Given the description of an element on the screen output the (x, y) to click on. 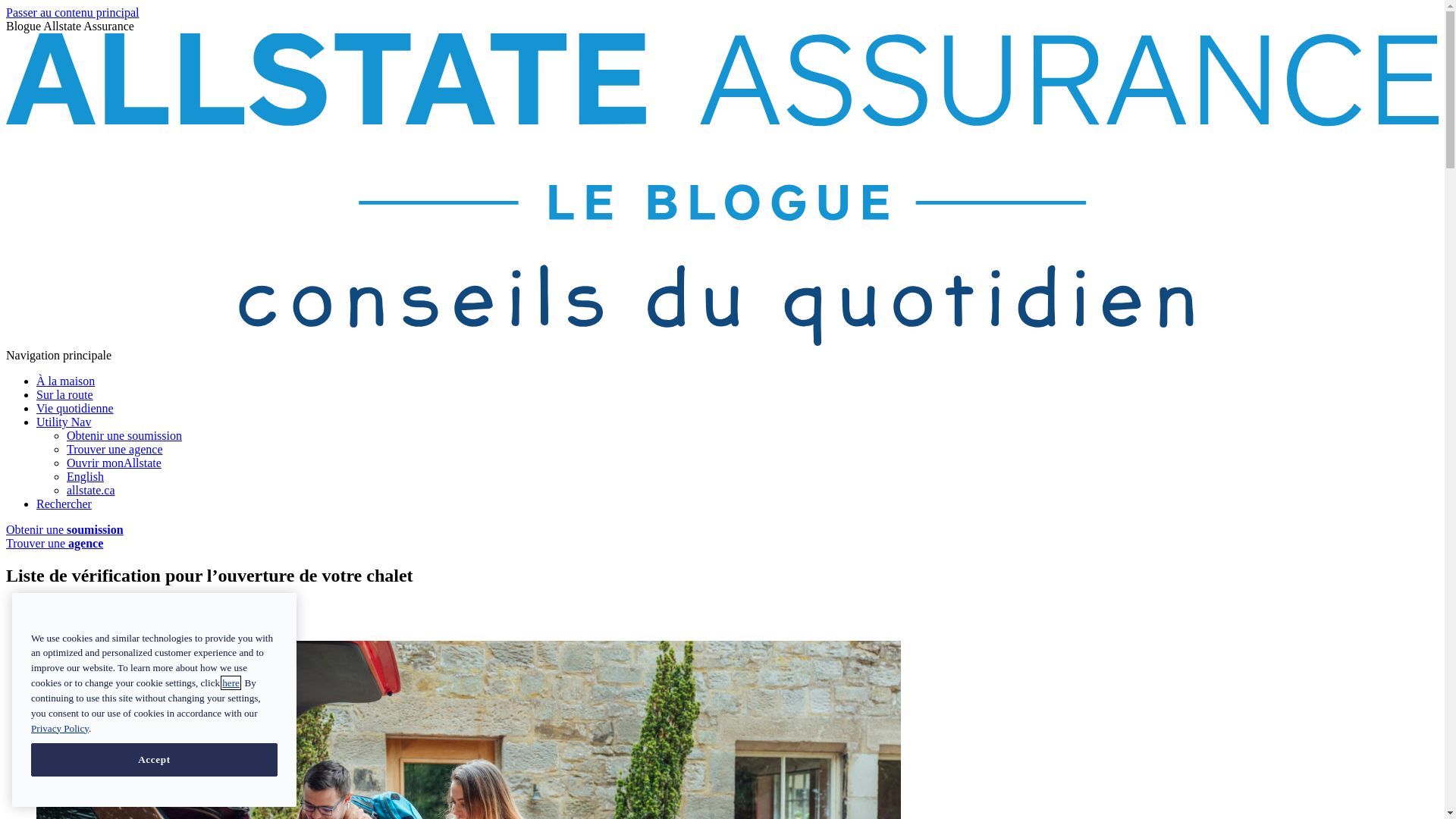
Privacy Policy Element type: text (59, 727)
allstate.ca Element type: text (90, 489)
English Element type: text (84, 476)
Sur la route Element type: text (64, 394)
Utility Nav Element type: text (63, 421)
Ouvrir monAllstate Element type: text (113, 462)
Obtenir une soumission Element type: text (64, 529)
Vie quotidienne Element type: text (74, 407)
Trouver une agence Element type: text (54, 542)
Accueil du Blogue Allstate Assurance Element type: hover (722, 341)
Trouver une agence Element type: text (114, 448)
Obtenir une soumission Element type: text (124, 435)
Accept Element type: text (154, 759)
Passer au contenu principal Element type: text (72, 12)
Mark Keast Element type: text (82, 607)
Rechercher Element type: text (63, 503)
here Element type: text (230, 682)
